Given the description of an element on the screen output the (x, y) to click on. 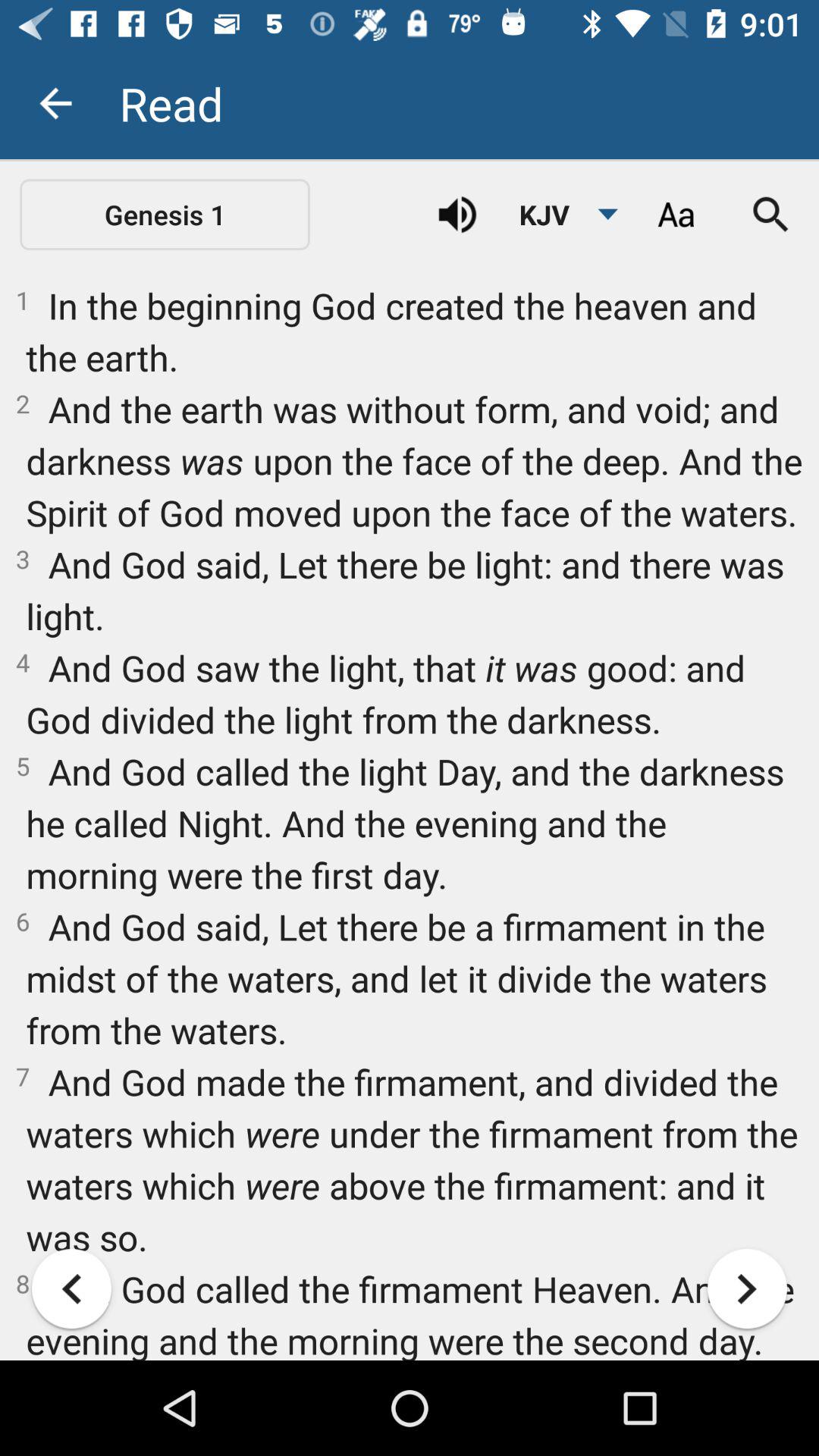
launch icon above the 1 in the item (675, 214)
